Given the description of an element on the screen output the (x, y) to click on. 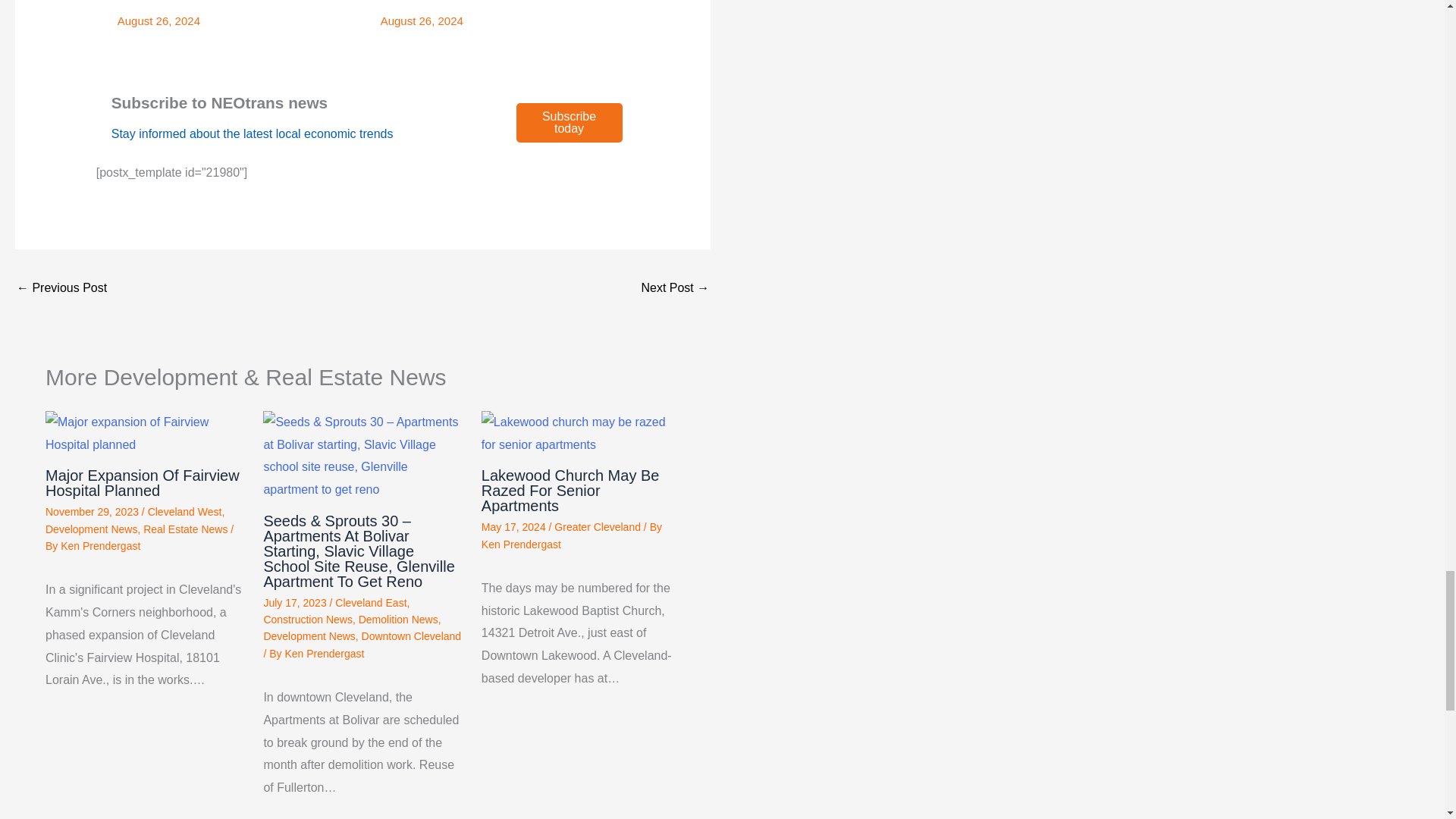
View all posts by Ken Prendergast (323, 653)
Cleveland benefits from national migration shift (61, 288)
View all posts by Ken Prendergast (100, 545)
View all posts by Ken Prendergast (520, 544)
Affordable apartments planned at RTA station (674, 288)
